Given the description of an element on the screen output the (x, y) to click on. 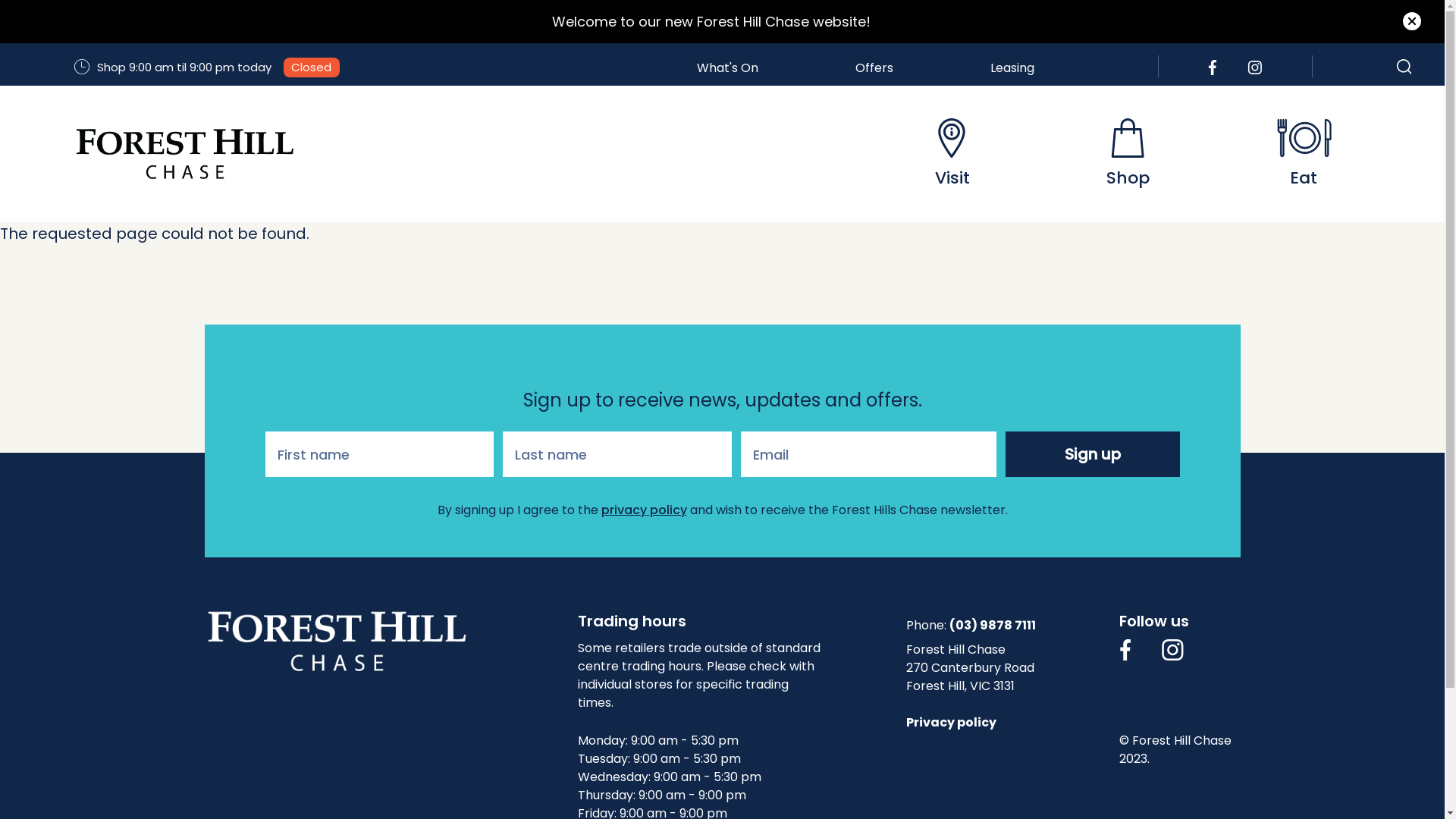
Offers Element type: text (874, 67)
What's On Element type: text (727, 67)
Leasing Element type: text (1012, 67)
Search Element type: text (1399, 70)
Visit Element type: text (952, 153)
Sign up Element type: text (1092, 453)
Privacy policy Element type: text (951, 722)
privacy policy Element type: text (643, 509)
(03) 9878 7111 Element type: text (992, 625)
Shop Element type: text (1127, 153)
Eat Element type: text (1303, 153)
